Given the description of an element on the screen output the (x, y) to click on. 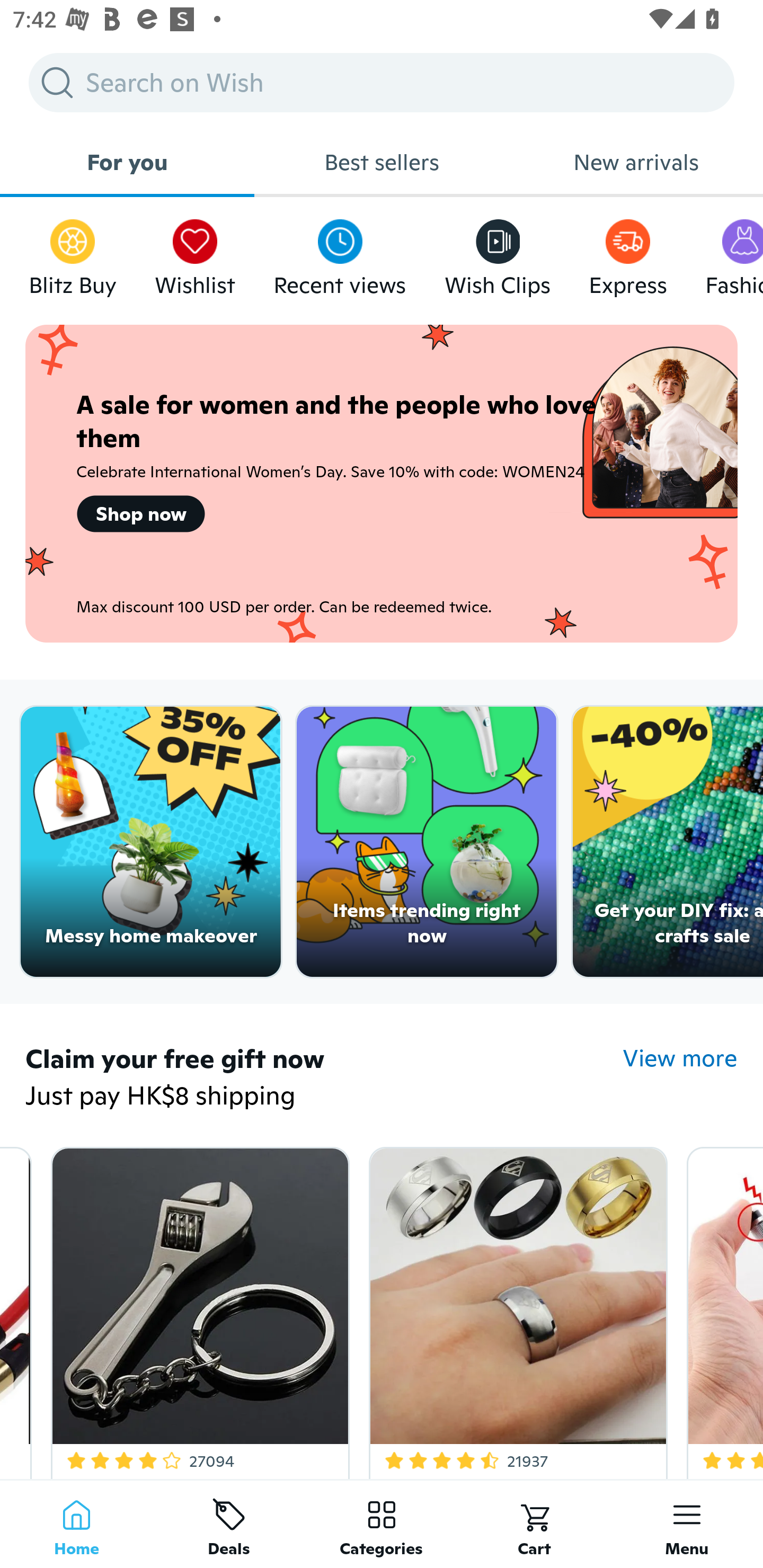
Search on Wish (381, 82)
For you (127, 161)
Best sellers (381, 161)
New arrivals (635, 161)
Blitz Buy (72, 252)
Wishlist (194, 252)
Recent views (339, 252)
Wish Clips (497, 252)
Express (627, 252)
Fashion (734, 252)
Messy home makeover (150, 841)
Items trending right now (426, 841)
Get your DIY fix: arts & crafts sale (668, 841)
Claim your free gift now
Just pay HK$8 shipping (323, 1078)
View more (679, 1058)
4 Star Rating 27094 Free (196, 1308)
4.3 Star Rating 21937 Free (514, 1308)
Home (76, 1523)
Deals (228, 1523)
Categories (381, 1523)
Cart (533, 1523)
Menu (686, 1523)
